Given the description of an element on the screen output the (x, y) to click on. 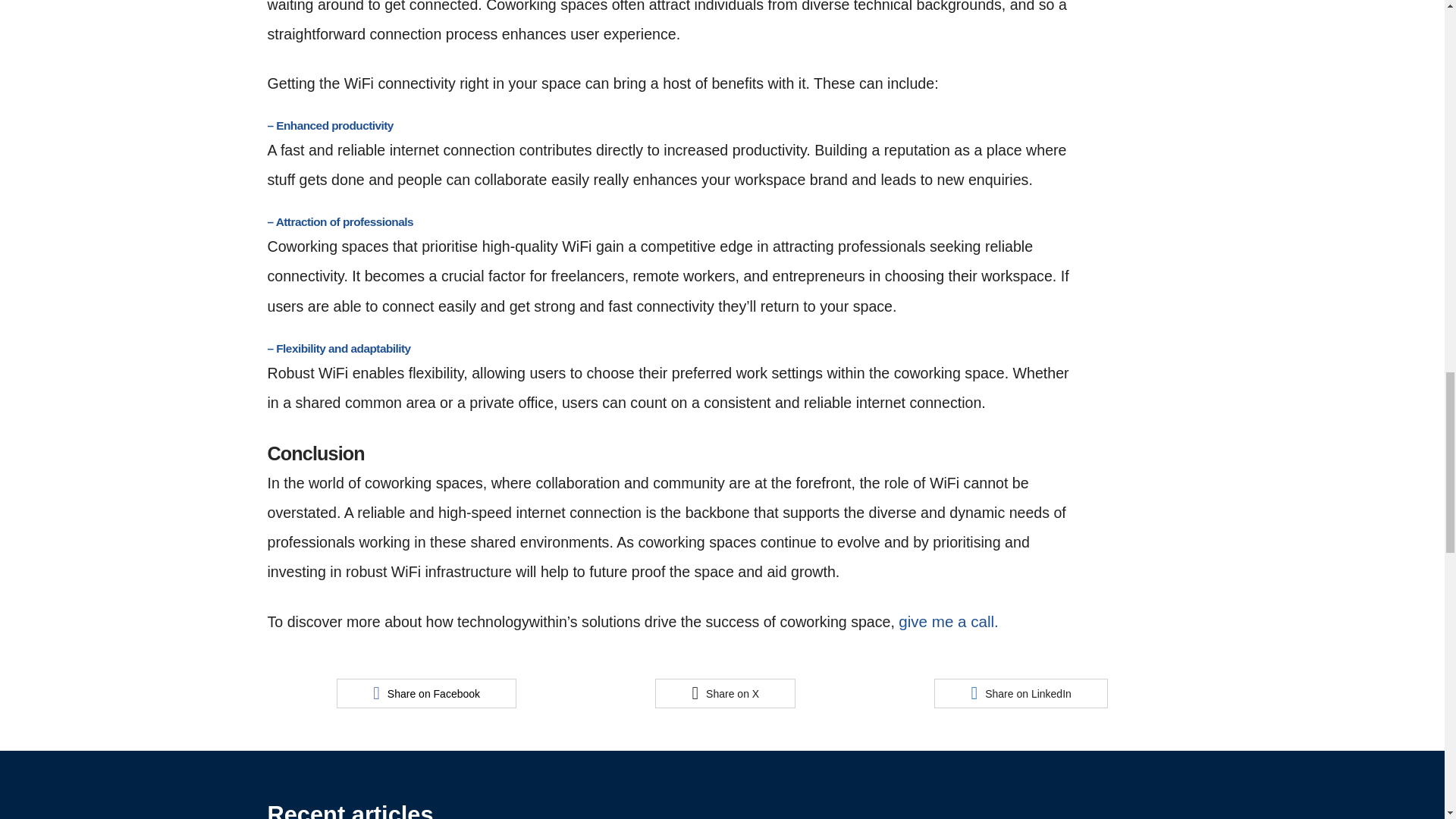
Share on LinkedIn (1020, 693)
Share on Facebook (426, 693)
give me a call. (948, 620)
Share on X (724, 693)
